Given the description of an element on the screen output the (x, y) to click on. 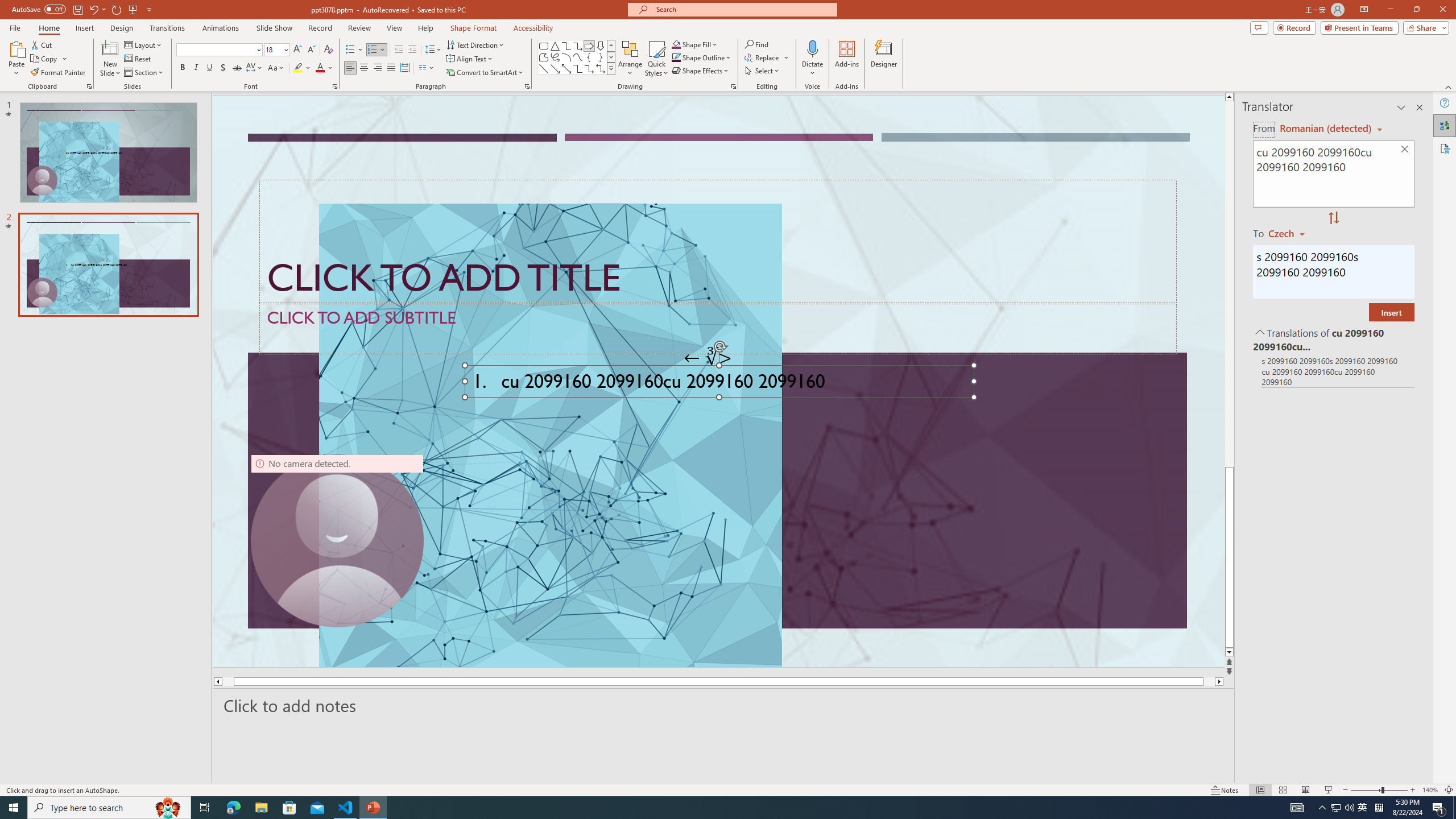
An abstract genetic concept (718, 381)
Camera 9, No camera detected. (336, 540)
